Given the description of an element on the screen output the (x, y) to click on. 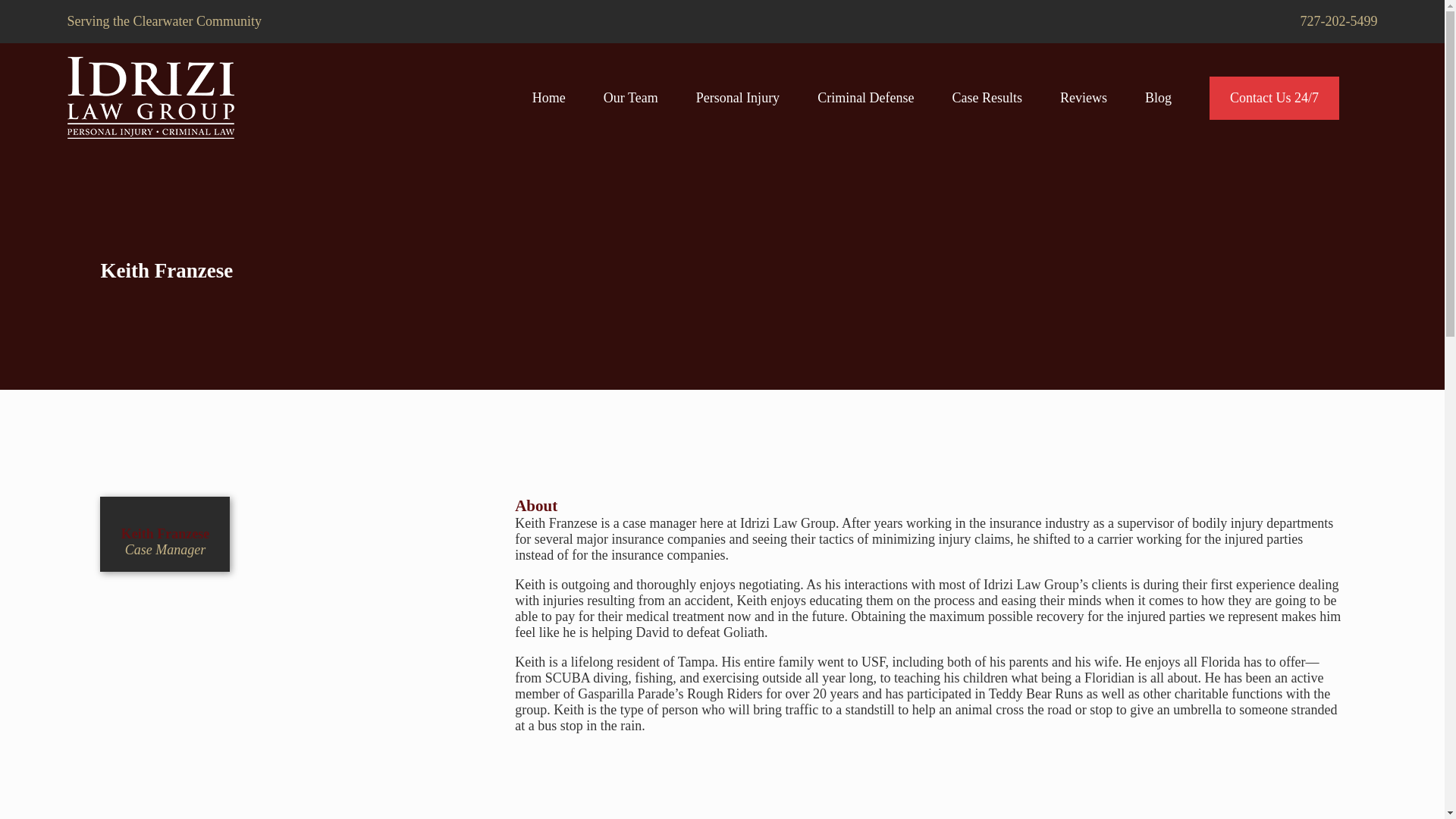
Home (149, 97)
Case Results (987, 97)
Personal Injury (736, 97)
Criminal Defense (865, 97)
Reviews (1082, 97)
Our Team (631, 97)
727-202-5499 (1338, 20)
